Given the description of an element on the screen output the (x, y) to click on. 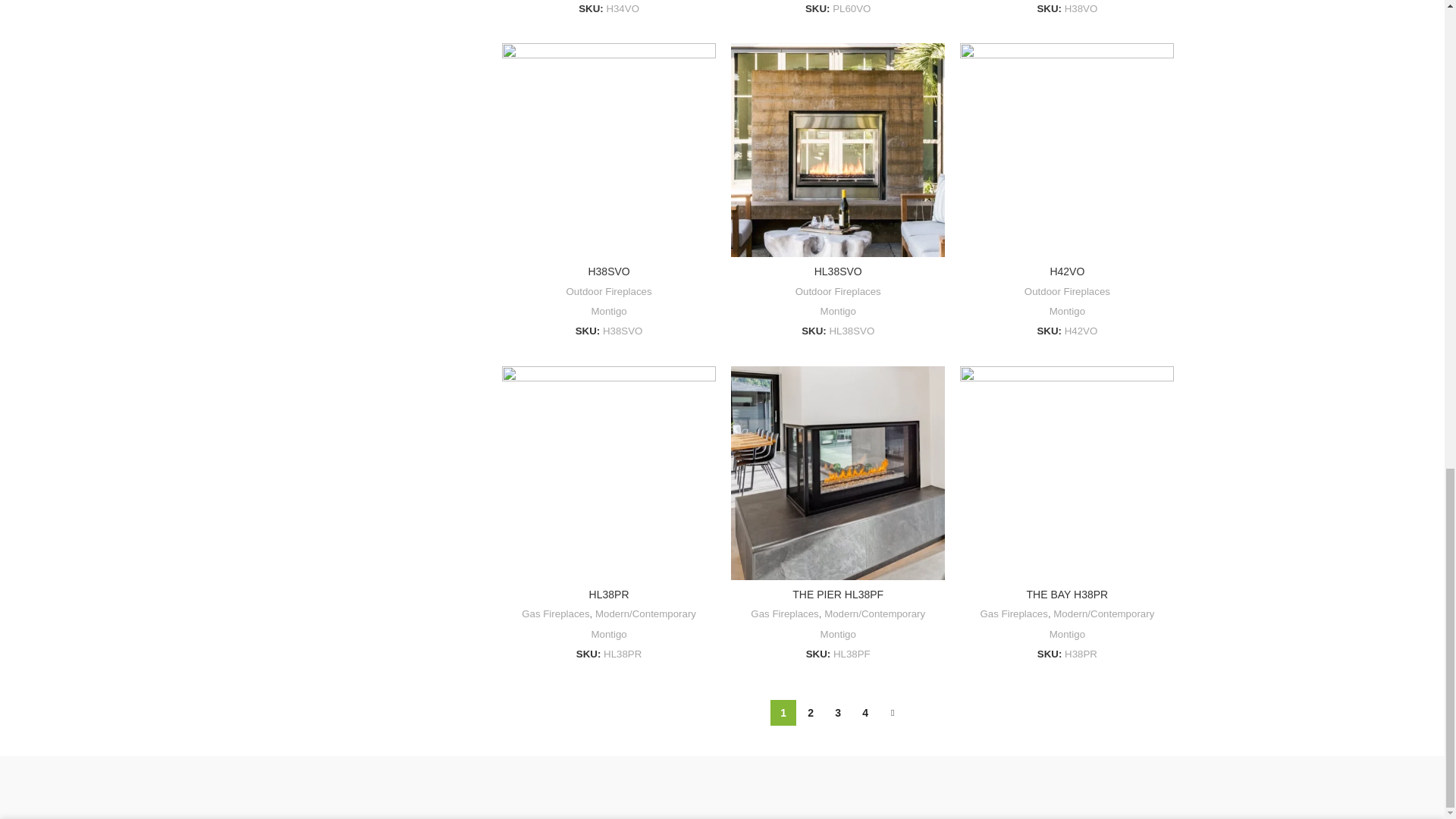
Napoleon (593, 786)
Regency Fireplace (333, 786)
Dimplex (980, 786)
Genesis (851, 786)
Real Fyre (463, 786)
